Given the description of an element on the screen output the (x, y) to click on. 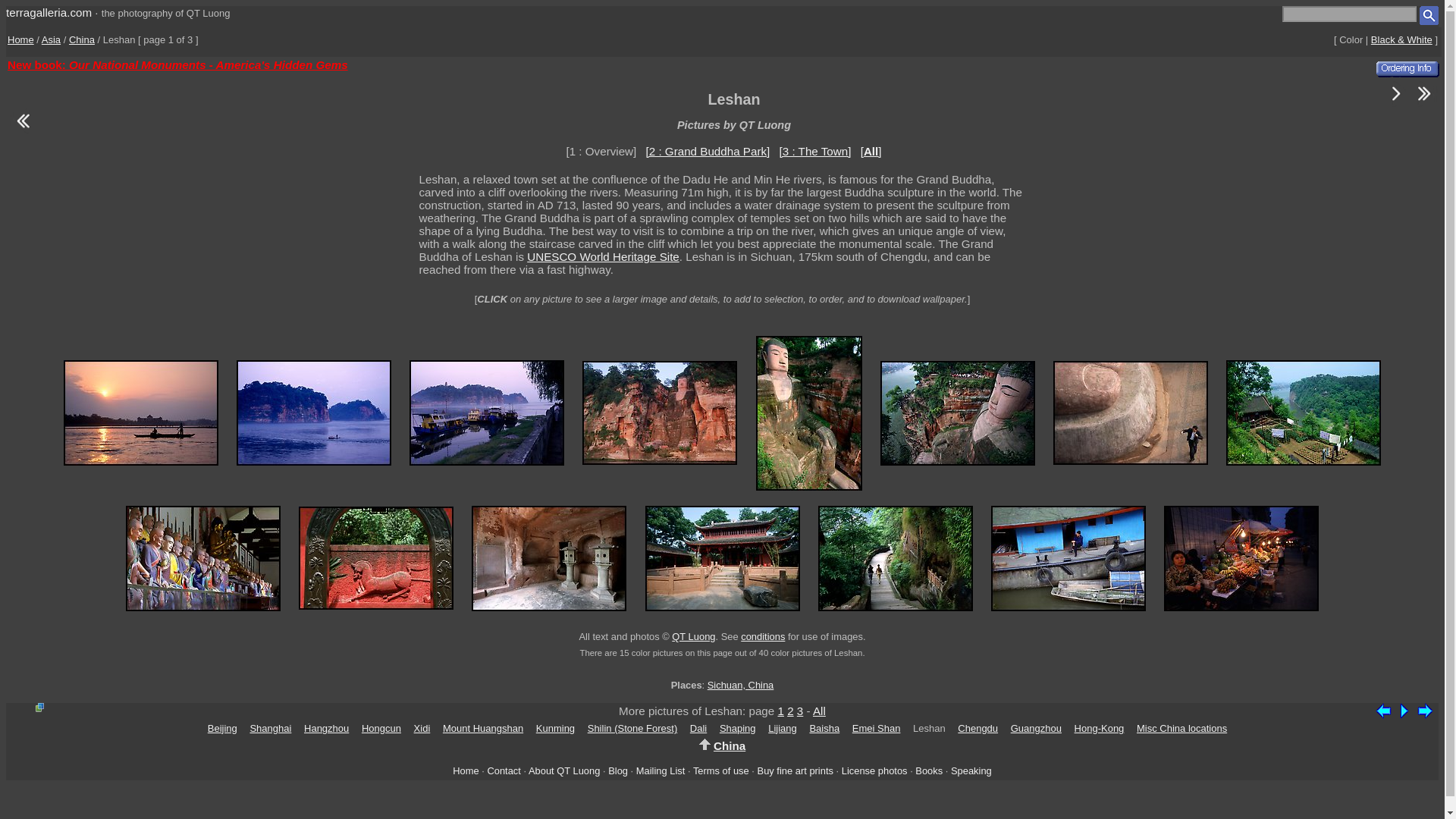
Asia (51, 39)
China (81, 39)
New book: Our National Monuments - America's Hidden Gems (177, 64)
UNESCO World Heritage Site (603, 256)
Previous set of pictures: Emei Shan (22, 129)
Home (20, 39)
QT Luong (692, 636)
Beijing (222, 727)
terragalleria.com (48, 11)
More pictures of Leshan (1396, 102)
